Given the description of an element on the screen output the (x, y) to click on. 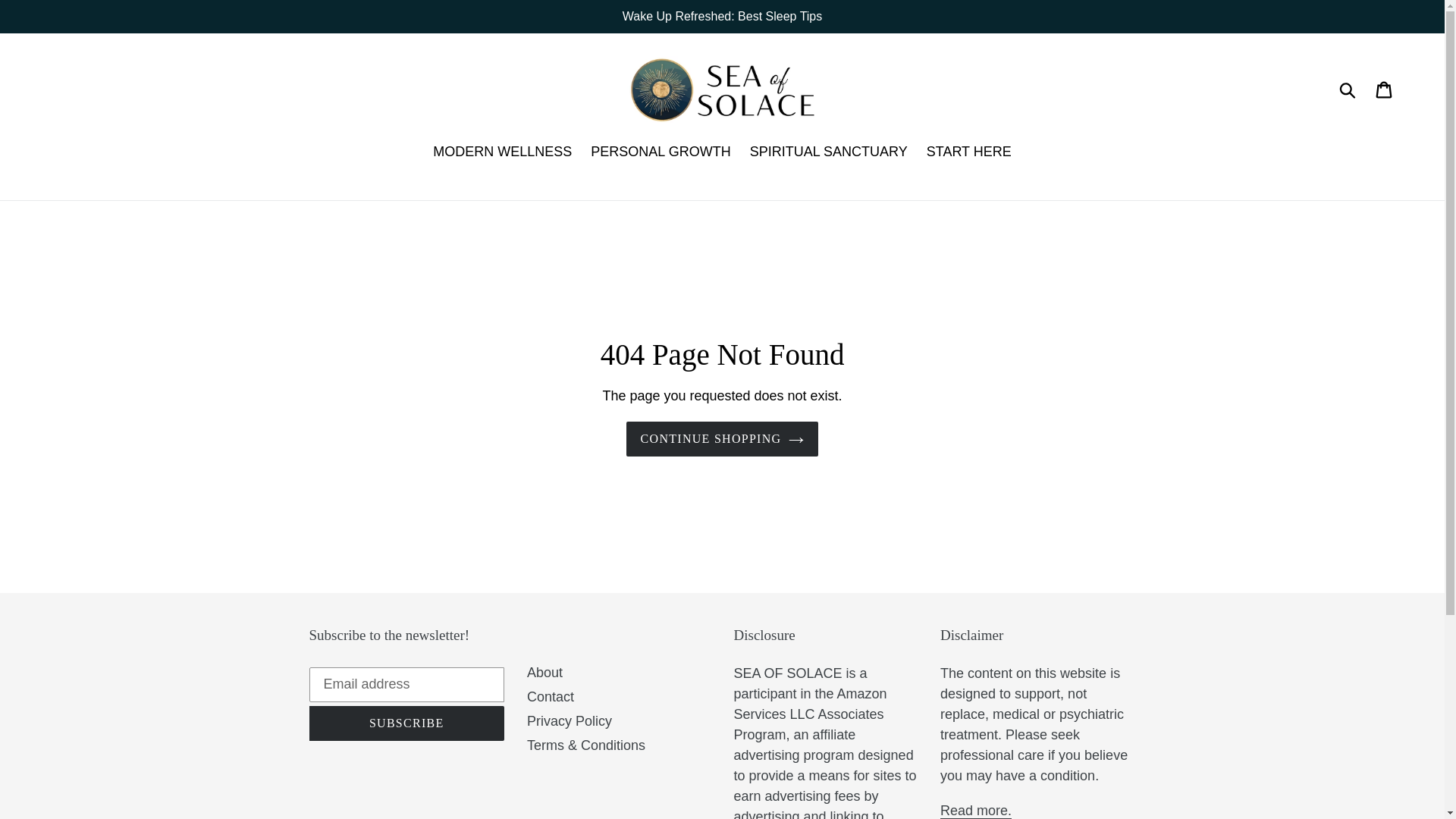
Submit (1348, 89)
Cart (1385, 89)
PERSONAL GROWTH (660, 152)
START HERE (968, 152)
MODERN WELLNESS (502, 152)
SUBSCRIBE (406, 723)
CONTINUE SHOPPING (722, 438)
Privacy Policy (569, 720)
Contact (550, 696)
SPIRITUAL SANCTUARY (828, 152)
